Given the description of an element on the screen output the (x, y) to click on. 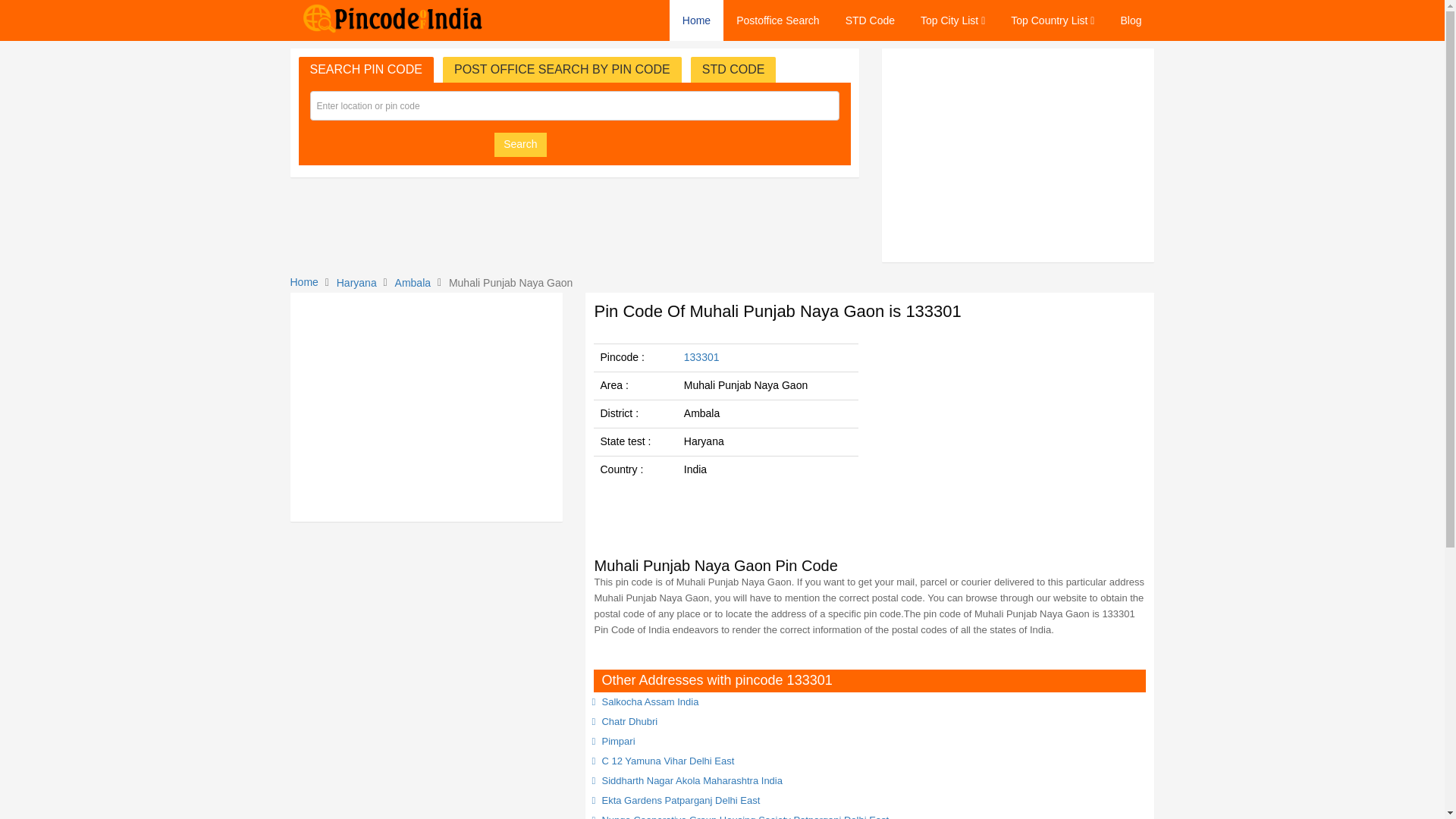
Top Country List (1051, 20)
Top City List (952, 20)
Blog (1130, 20)
Home (696, 20)
Search (520, 144)
STD Code (869, 20)
Search (520, 144)
SEARCH PIN CODE (365, 69)
Postoffice Search (777, 20)
